Given the description of an element on the screen output the (x, y) to click on. 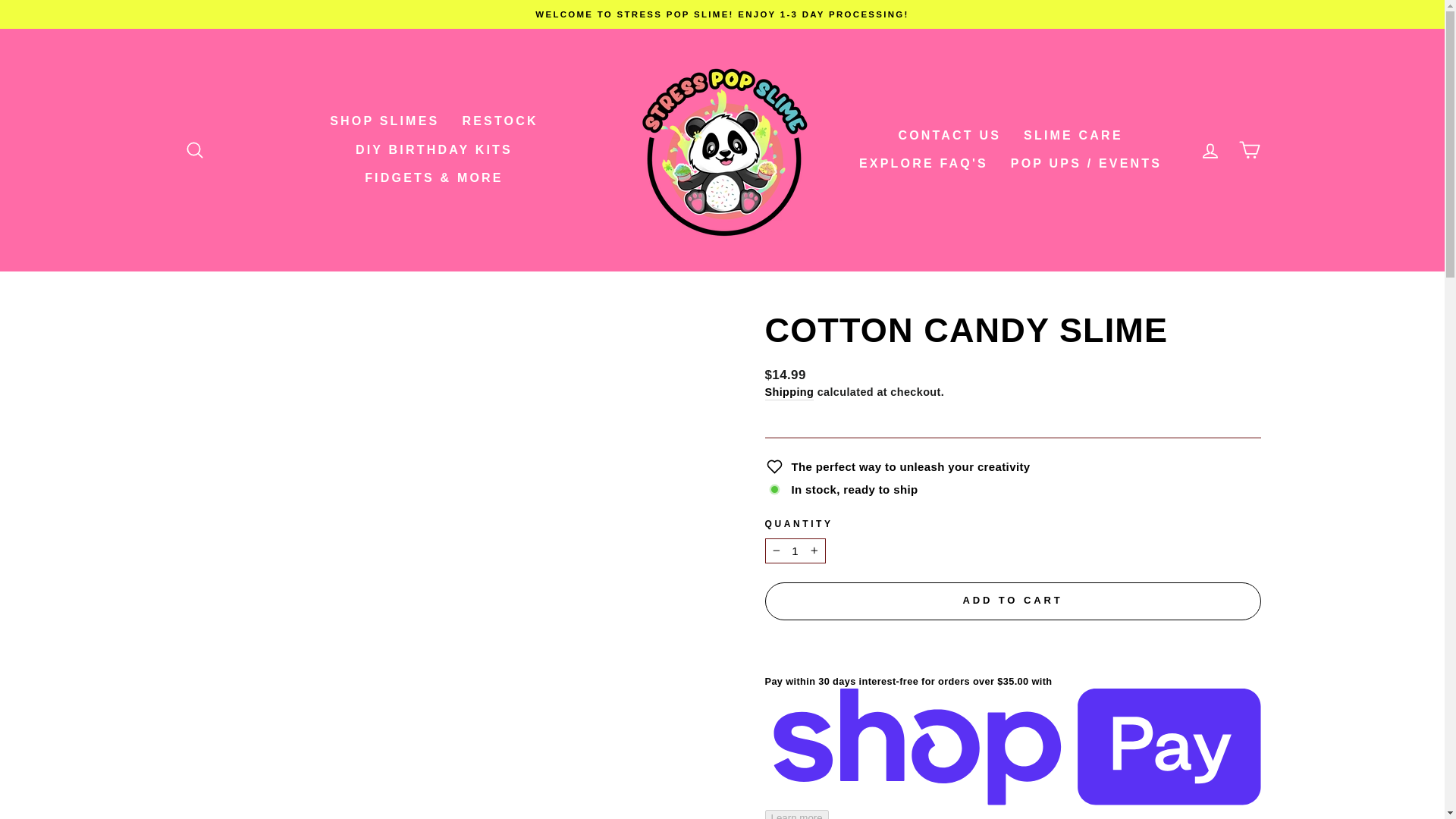
1 (794, 550)
RESTOCK (498, 121)
SEARCH (194, 149)
LOG IN (1210, 149)
EXPLORE FAQ'S (922, 163)
DIY BIRTHDAY KITS (433, 149)
SLIME CARE (1072, 135)
SHOP SLIMES (383, 121)
CONTACT US (948, 135)
